Given the description of an element on the screen output the (x, y) to click on. 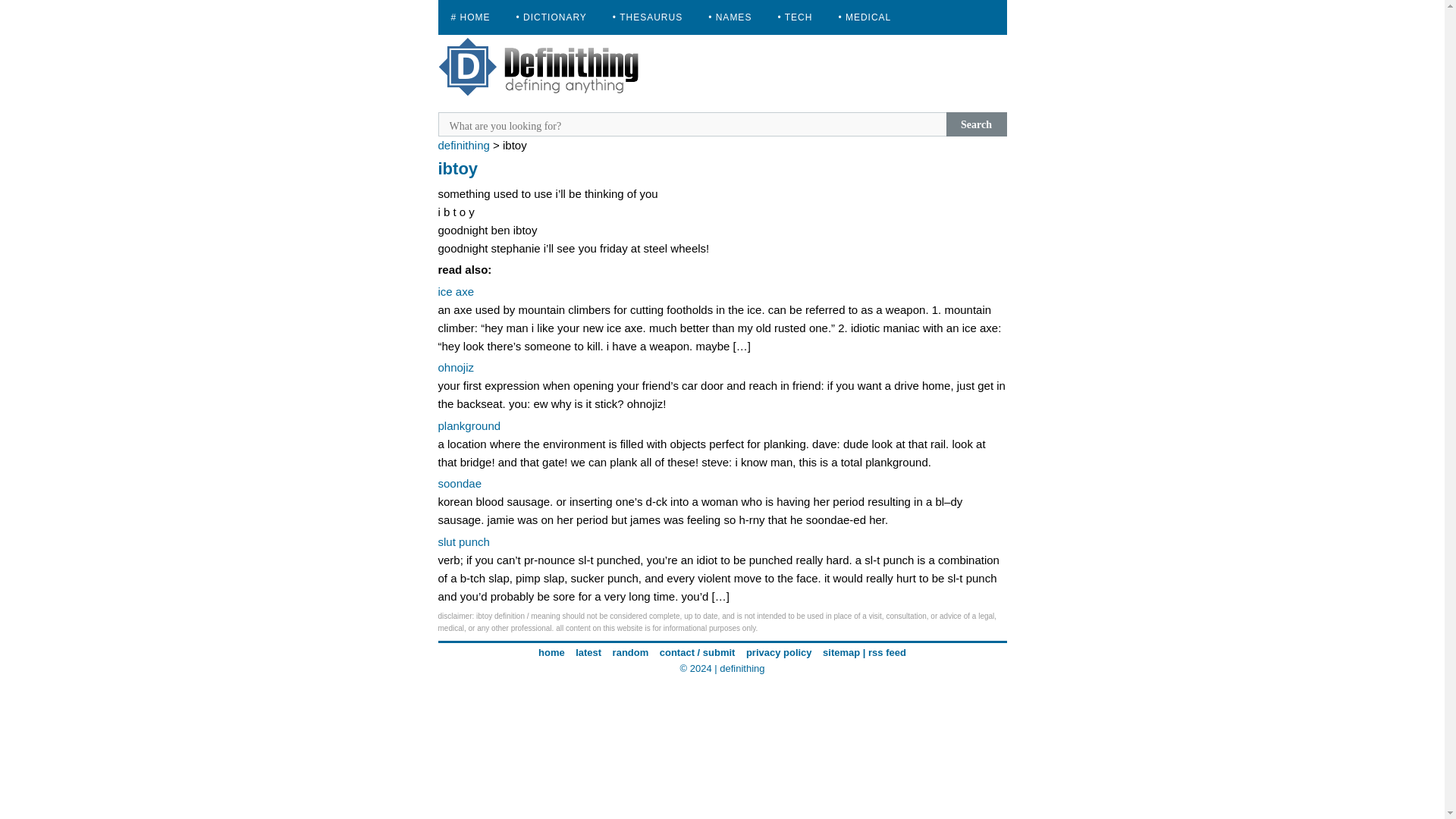
ice axe (456, 291)
privacy policy (778, 652)
definithing (463, 144)
ohnojiz (456, 367)
Search (976, 124)
soondae (459, 482)
random (630, 652)
home (551, 652)
definithing (741, 668)
sitemap (841, 652)
